Given the description of an element on the screen output the (x, y) to click on. 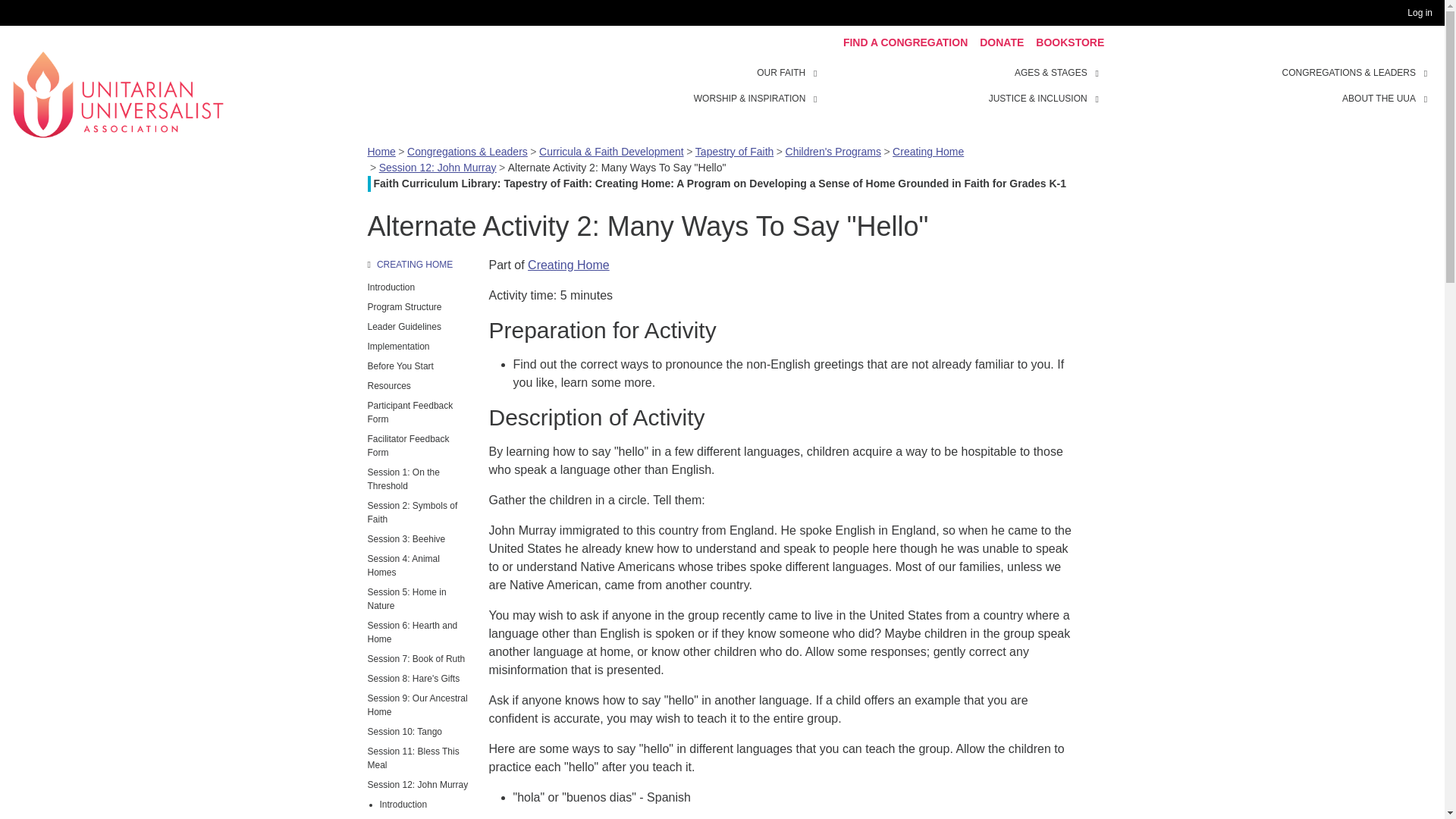
Site Menu (962, 85)
FIND A CONGREGATION (905, 42)
Home (117, 92)
BOOKSTORE (1069, 42)
OUR FAITH (781, 72)
Log in (1423, 12)
Go up this menu (418, 264)
OUR FAITH (817, 71)
DONATE (1001, 42)
